Given the description of an element on the screen output the (x, y) to click on. 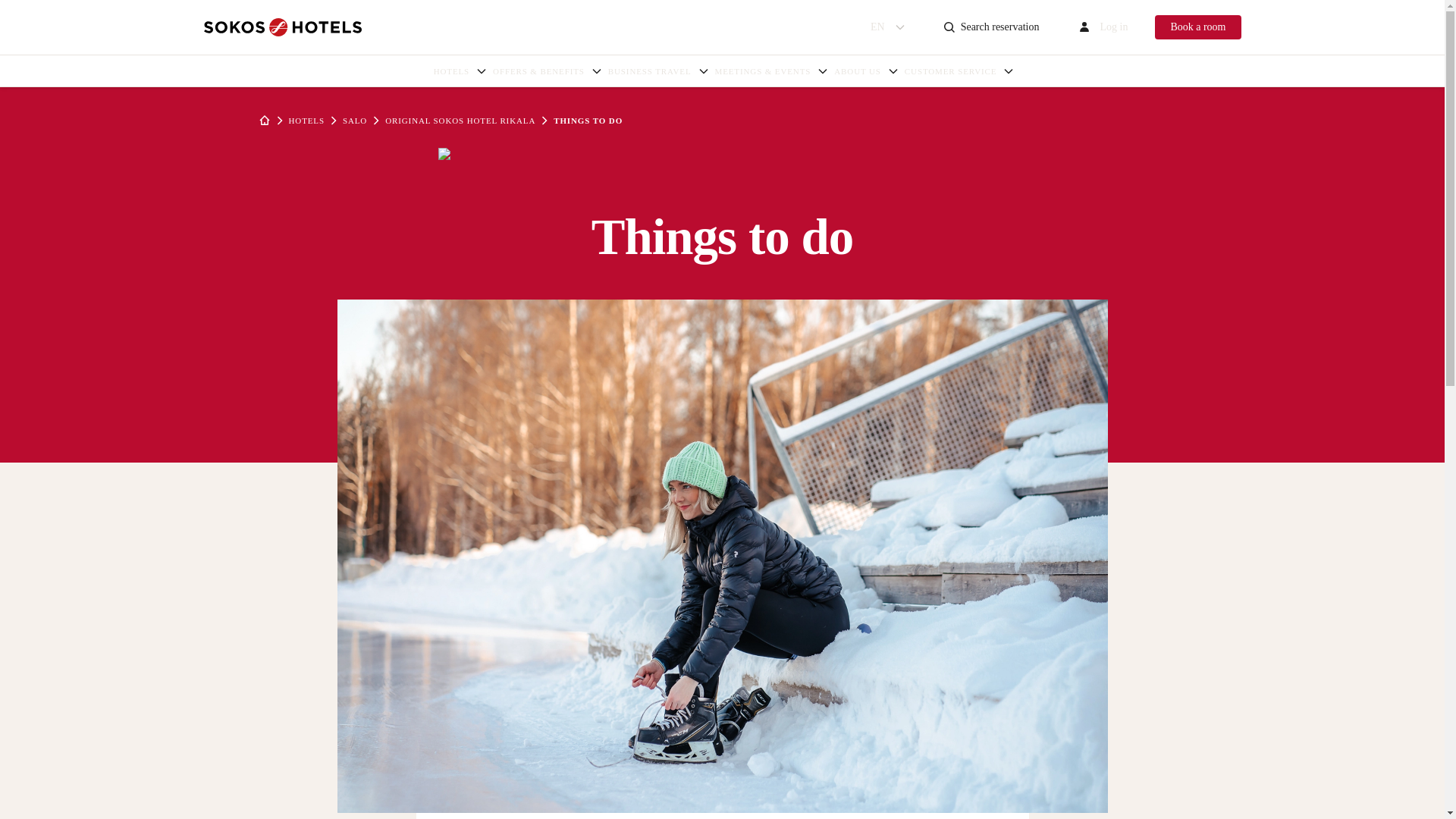
SALO (354, 120)
HOTELS (887, 26)
ABOUT US (458, 70)
ORIGINAL SOKOS HOTEL RIKALA (864, 70)
BUSINESS TRAVEL (460, 120)
Home (657, 70)
Book a room (282, 27)
Log in (1197, 27)
HOME (1100, 27)
